Given the description of an element on the screen output the (x, y) to click on. 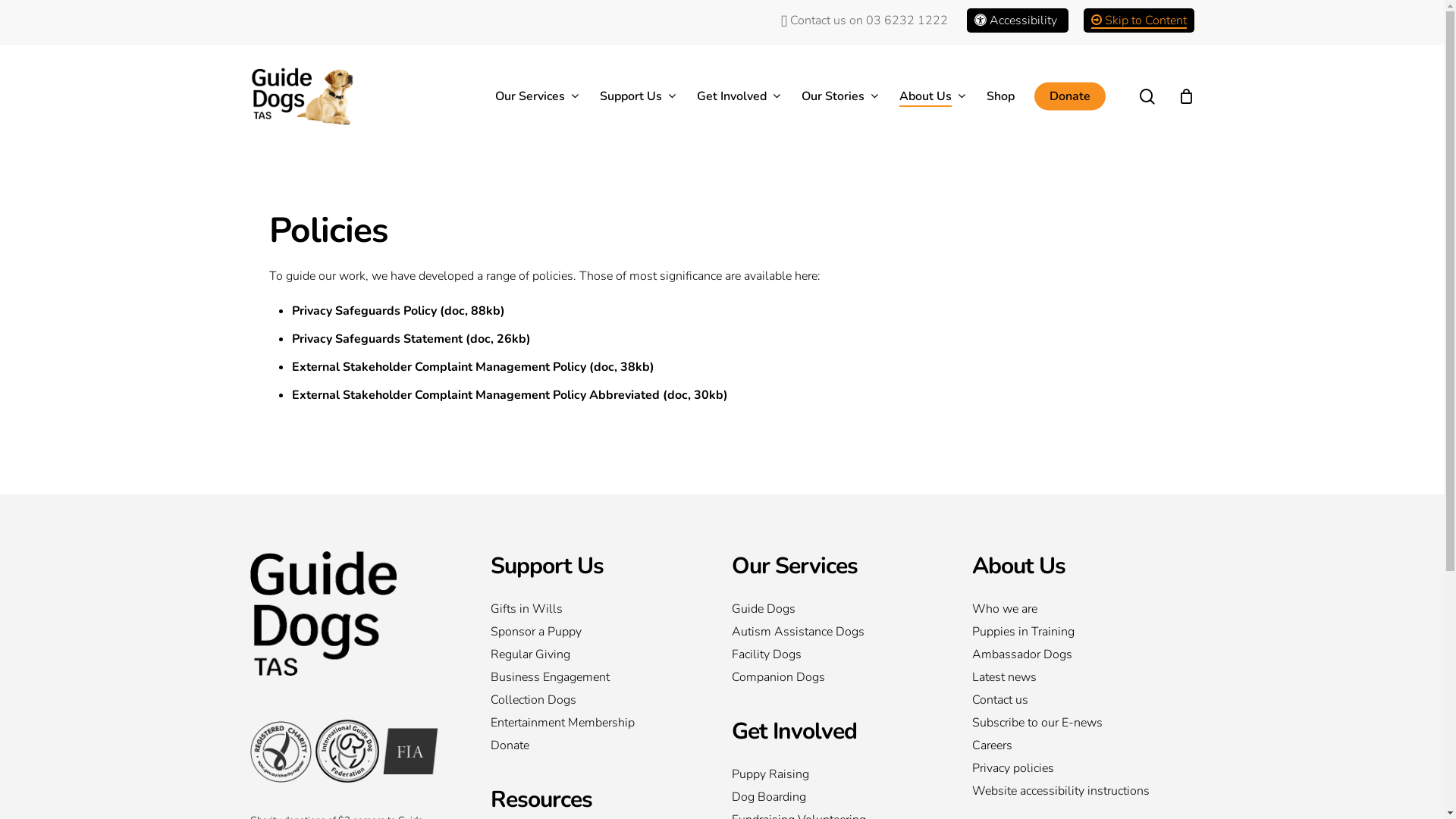
Our Services Element type: text (794, 565)
Guide Dogs Element type: text (827, 606)
Companion Dogs Element type: text (827, 676)
Business Engagement Element type: text (586, 676)
Puppy Raising Element type: text (827, 772)
Puppies in Training Element type: text (1068, 631)
Regular Giving Element type: text (586, 654)
Careers Element type: text (1068, 745)
Autism Assistance Dogs Element type: text (827, 631)
Collection Dogs Element type: text (586, 699)
Subscribe to our E-news Element type: text (1068, 722)
Privacy Safeguards Policy (doc, 88kb) Element type: text (398, 310)
Donate Element type: text (1069, 95)
Dog Boarding Element type: text (827, 796)
Sponsor a Puppy Element type: text (586, 631)
Support Us Element type: text (546, 565)
Contact us Element type: text (1068, 699)
External Stakeholder Complaint Management Policy (doc, 38kb) Element type: text (472, 366)
Privacy Safeguards Statement (doc, 26kb) Element type: text (410, 338)
Privacy policies Element type: text (1068, 767)
Get Involved Element type: text (738, 95)
Resources Element type: text (541, 799)
Support Us Element type: text (638, 95)
Who we are Element type: text (1068, 606)
search Element type: text (1147, 95)
Ambassador Dogs Element type: text (1068, 654)
Get Involved Element type: text (793, 730)
Donate Element type: text (586, 745)
Accessibility Element type: text (1015, 20)
Latest news Element type: text (1068, 676)
About Us Element type: text (932, 95)
Website accessibility instructions Element type: text (1068, 790)
Facility Dogs Element type: text (827, 654)
Skip to Content Element type: text (1138, 20)
Contact us on 03 6232 1222 Element type: text (864, 20)
Our Stories Element type: text (840, 95)
Shop Element type: text (1000, 95)
Gifts in Wills Element type: text (586, 606)
Entertainment Membership Element type: text (586, 722)
Our Services Element type: text (537, 95)
About Us Element type: text (1018, 565)
